Given the description of an element on the screen output the (x, y) to click on. 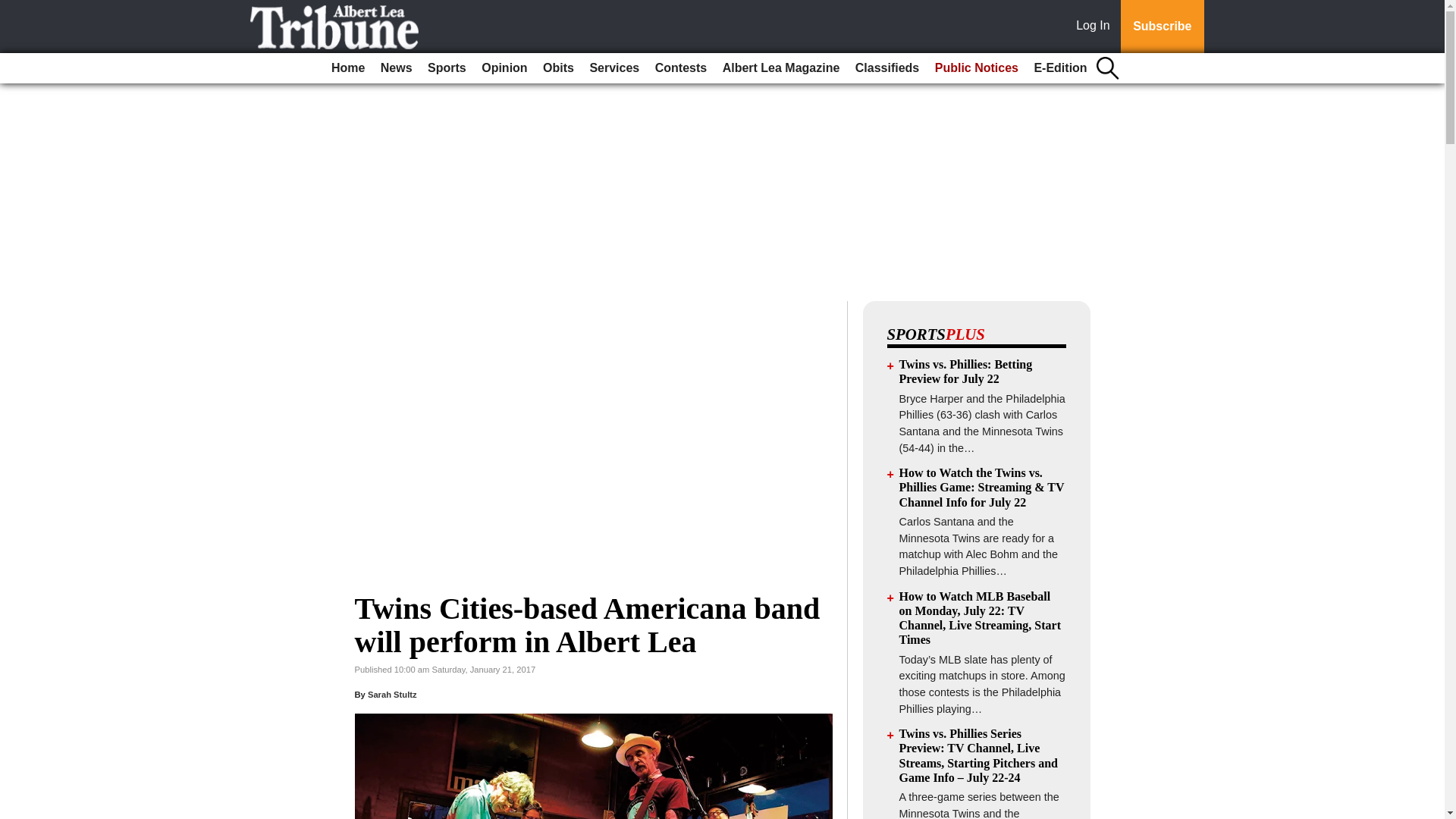
Home (347, 68)
News (396, 68)
Services (614, 68)
Obits (558, 68)
Sports (446, 68)
Log In (1095, 26)
Subscribe (1162, 26)
Opinion (504, 68)
